Given the description of an element on the screen output the (x, y) to click on. 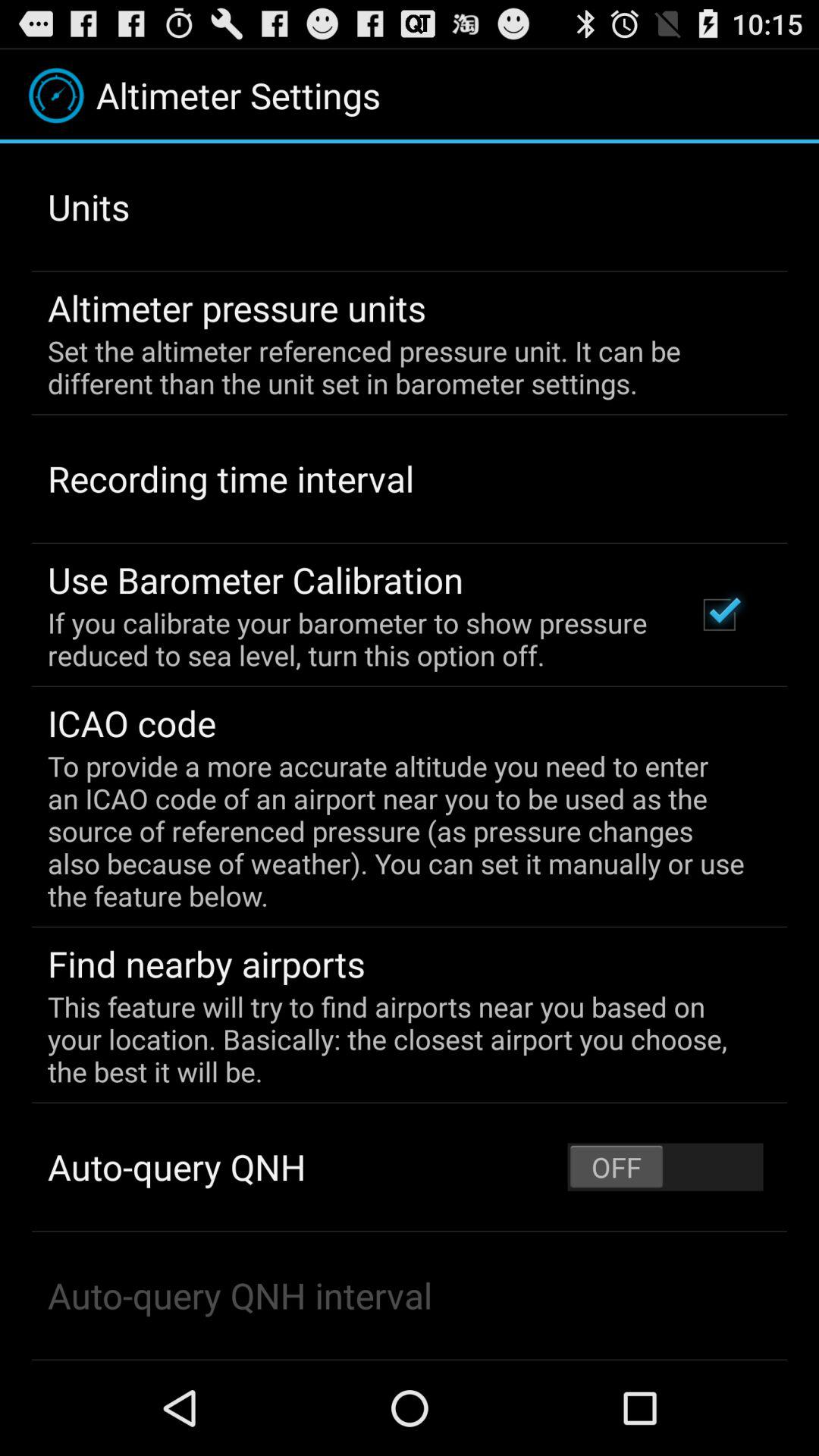
flip to the set the altimeter app (399, 367)
